Given the description of an element on the screen output the (x, y) to click on. 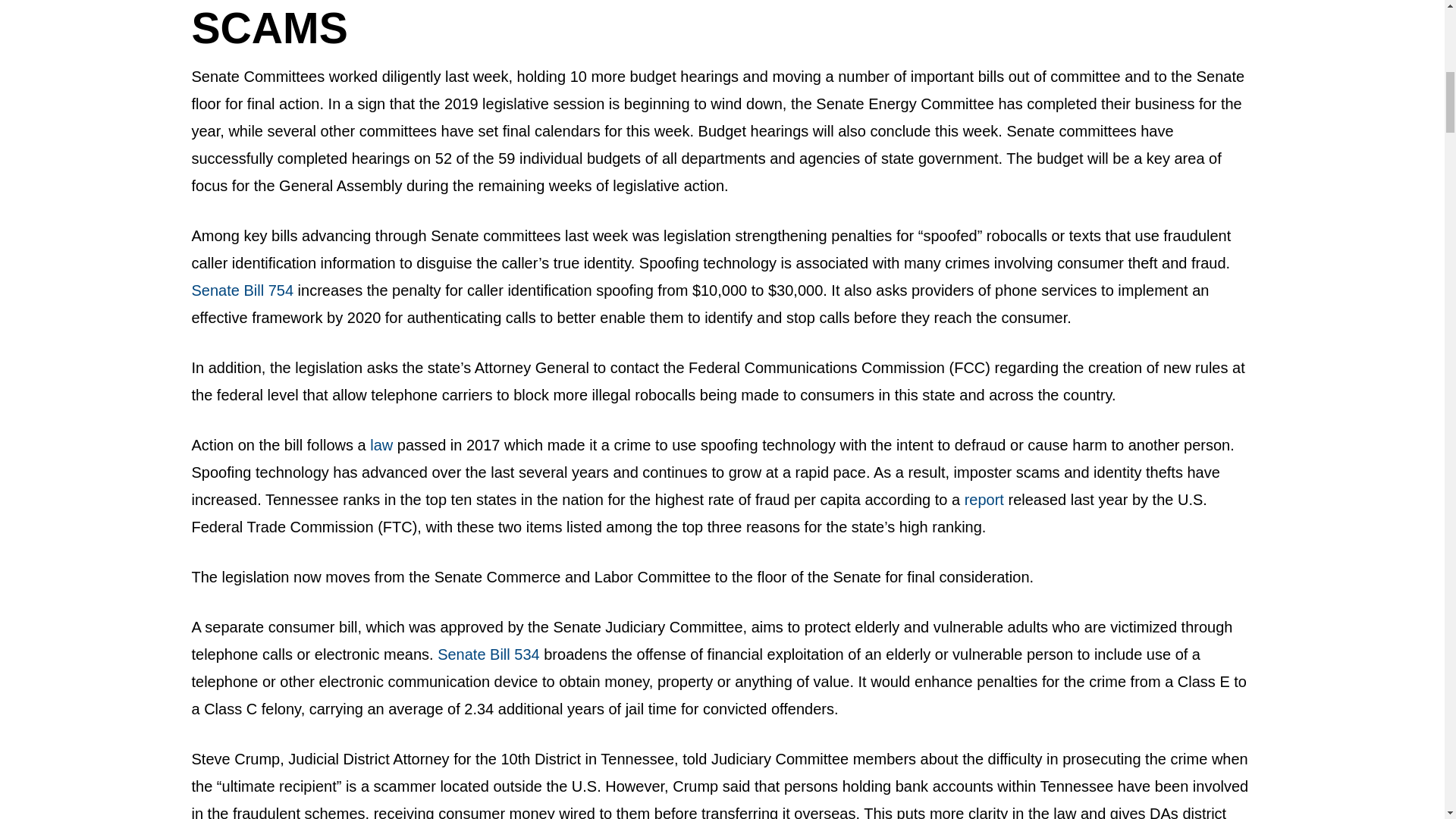
law (381, 444)
report (983, 499)
Senate Bill 534 (489, 654)
Senate Bill 754 (242, 289)
